Given the description of an element on the screen output the (x, y) to click on. 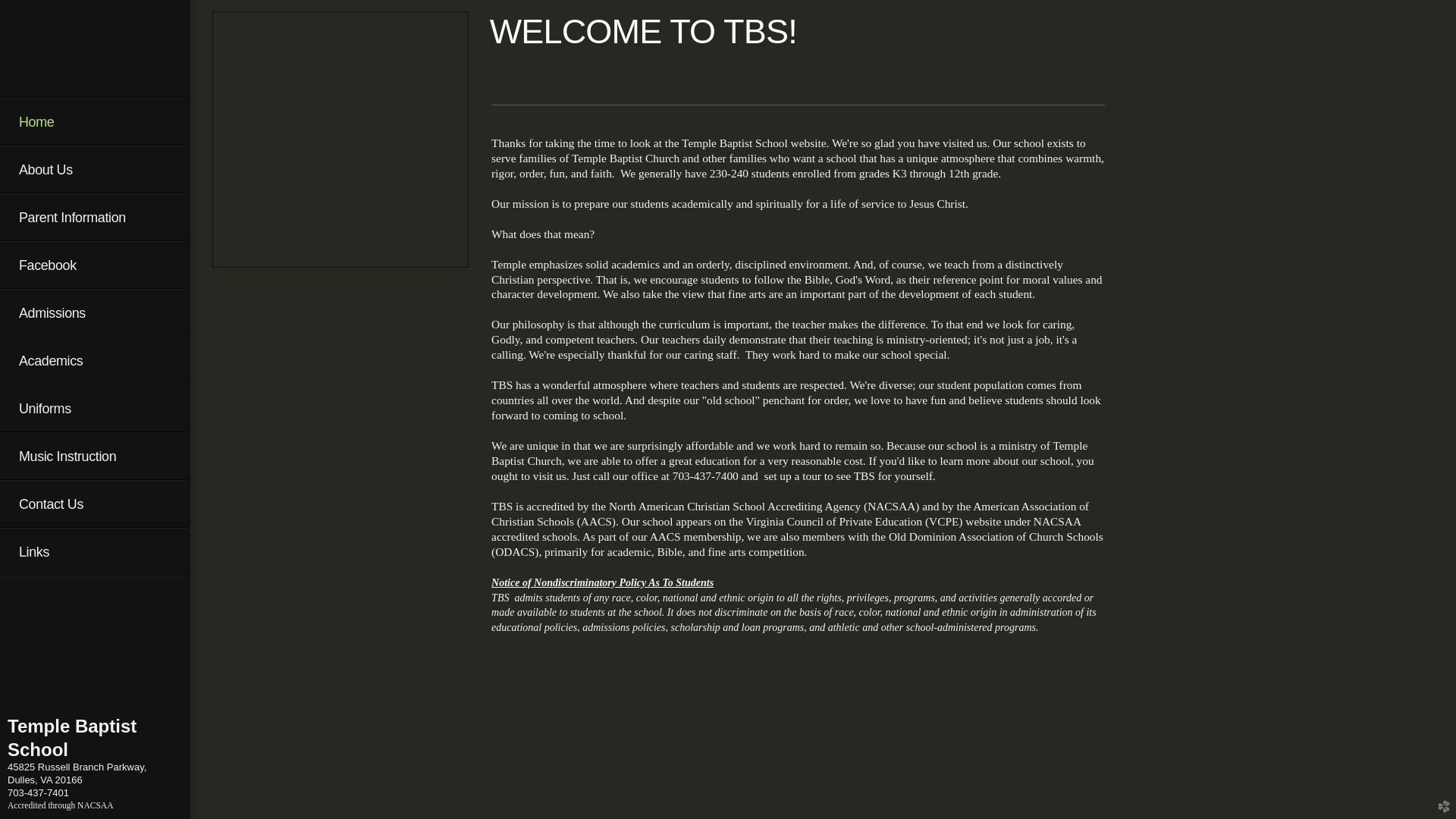
Home (94, 121)
About Us (94, 169)
